Given the description of an element on the screen output the (x, y) to click on. 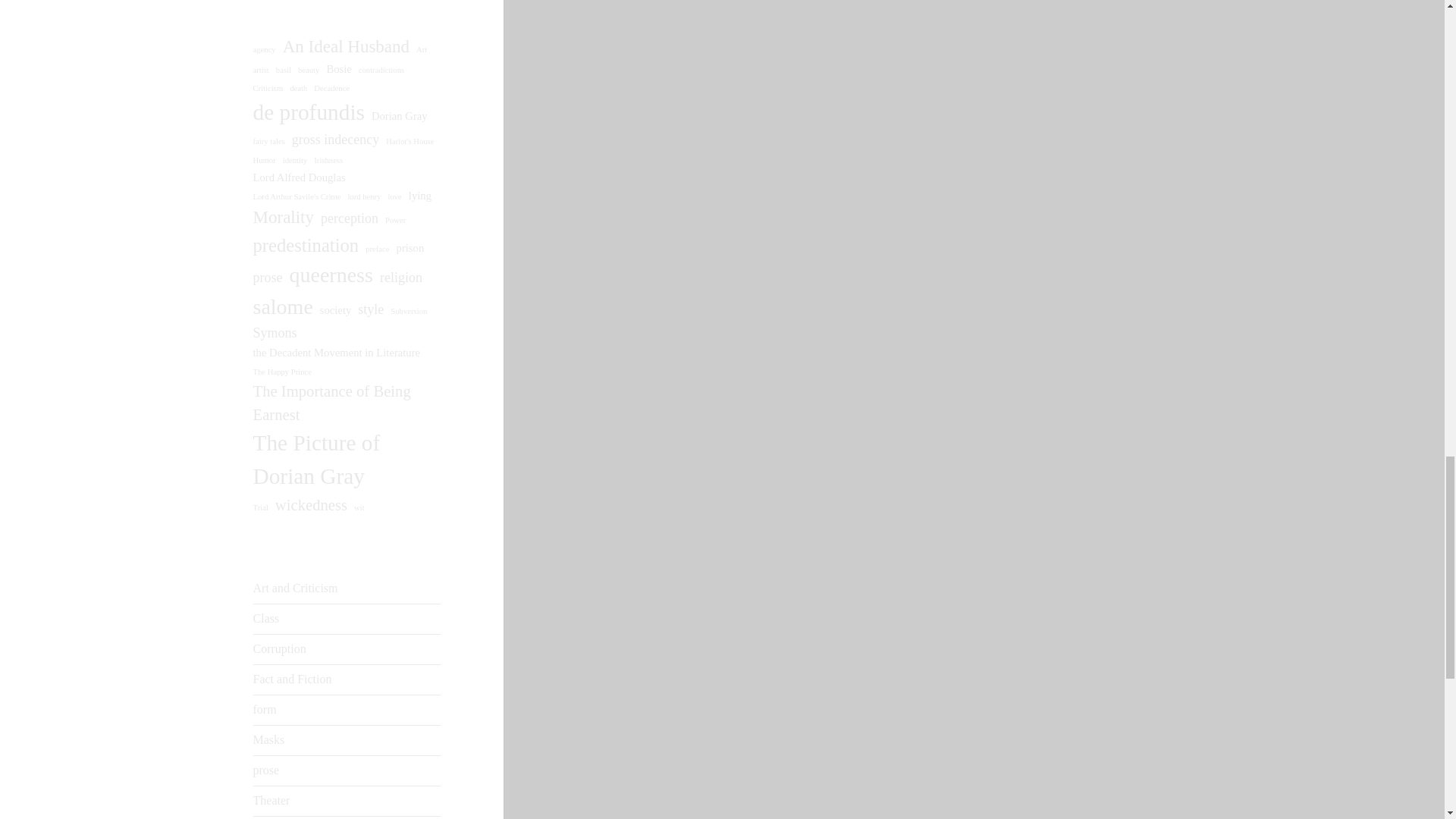
Dorian Gray (399, 115)
Lord Alfred Douglas (299, 176)
basil (283, 70)
Irishness (328, 160)
fairy tales (269, 141)
Lord Arthur Savile's Crime (296, 196)
de profundis (309, 112)
beauty (308, 70)
Humor (264, 160)
agency (264, 50)
